Given the description of an element on the screen output the (x, y) to click on. 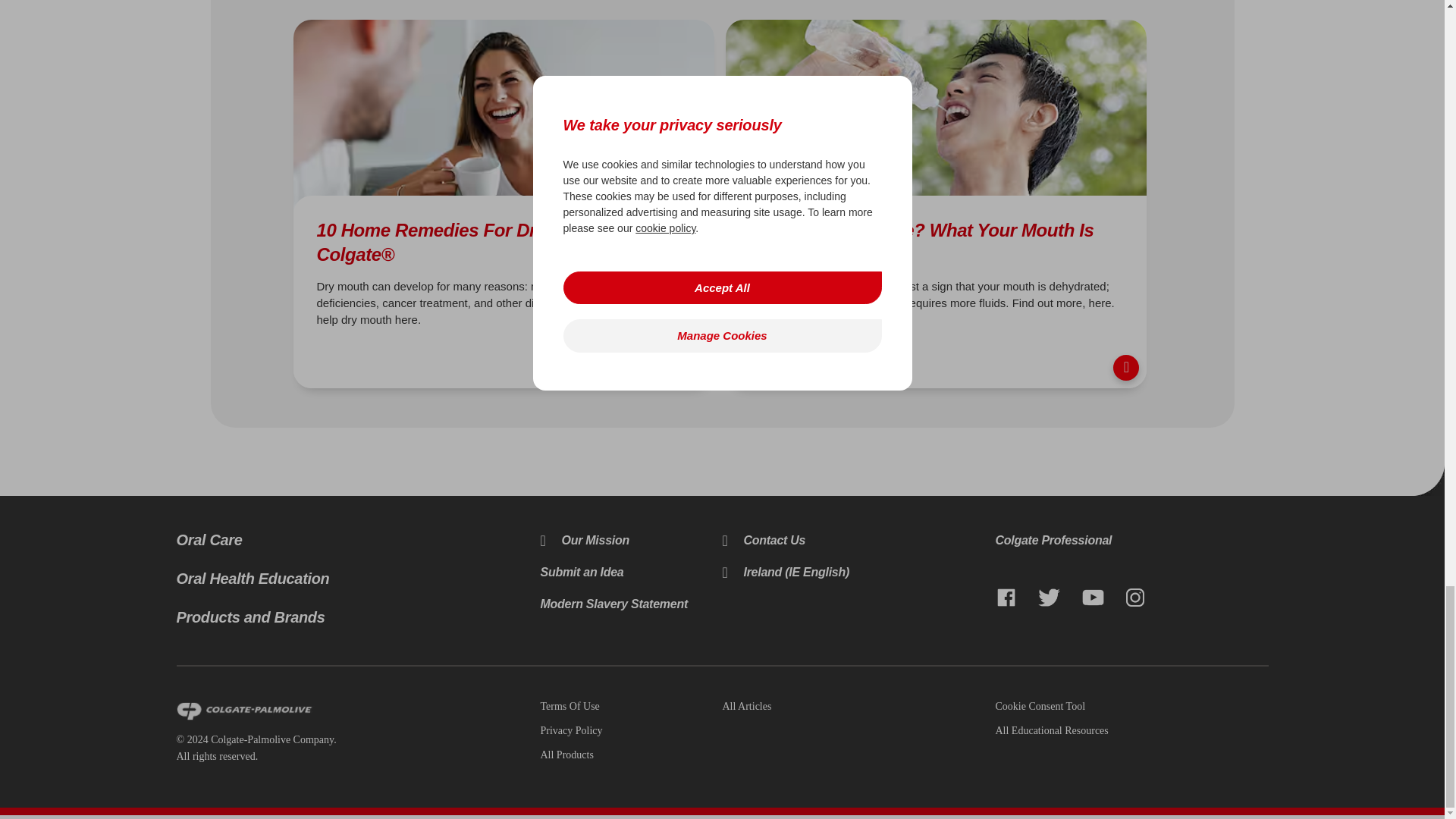
Our Mission (584, 540)
Facebook (1005, 598)
gray curved footer (1427, 479)
YouTube (1093, 598)
Twitter (1048, 598)
Instagram (1135, 598)
